Given the description of an element on the screen output the (x, y) to click on. 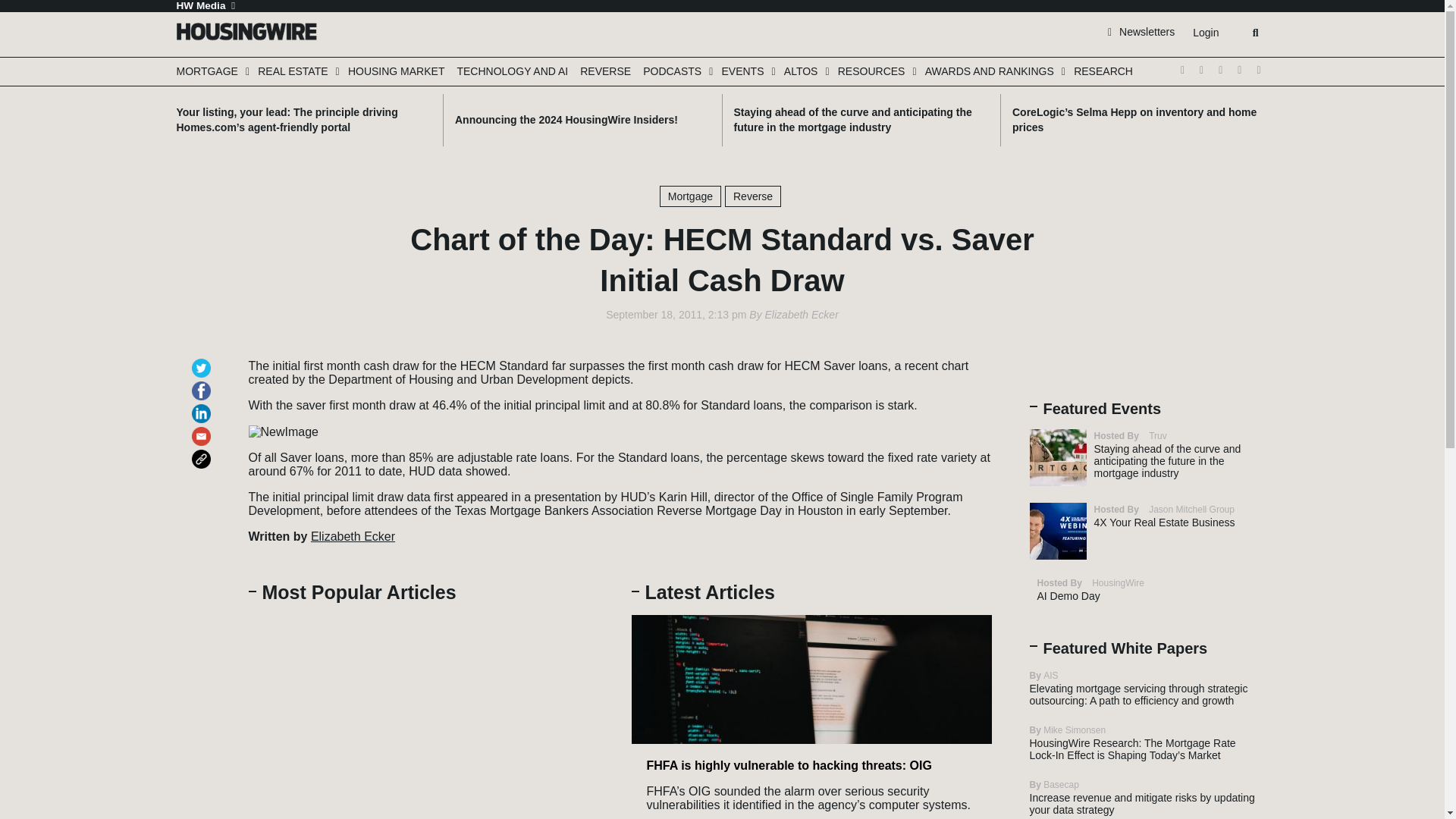
Click to email a link to a friend (203, 429)
Click to share on LinkedIn (203, 406)
NewImage.png (283, 431)
Click to copy link (203, 452)
Posts by Elizabeth Ecker (801, 314)
Click to share on Facebook (203, 383)
Click to share on Twitter (203, 360)
Login (1205, 32)
Newsletters (1141, 31)
